Given the description of an element on the screen output the (x, y) to click on. 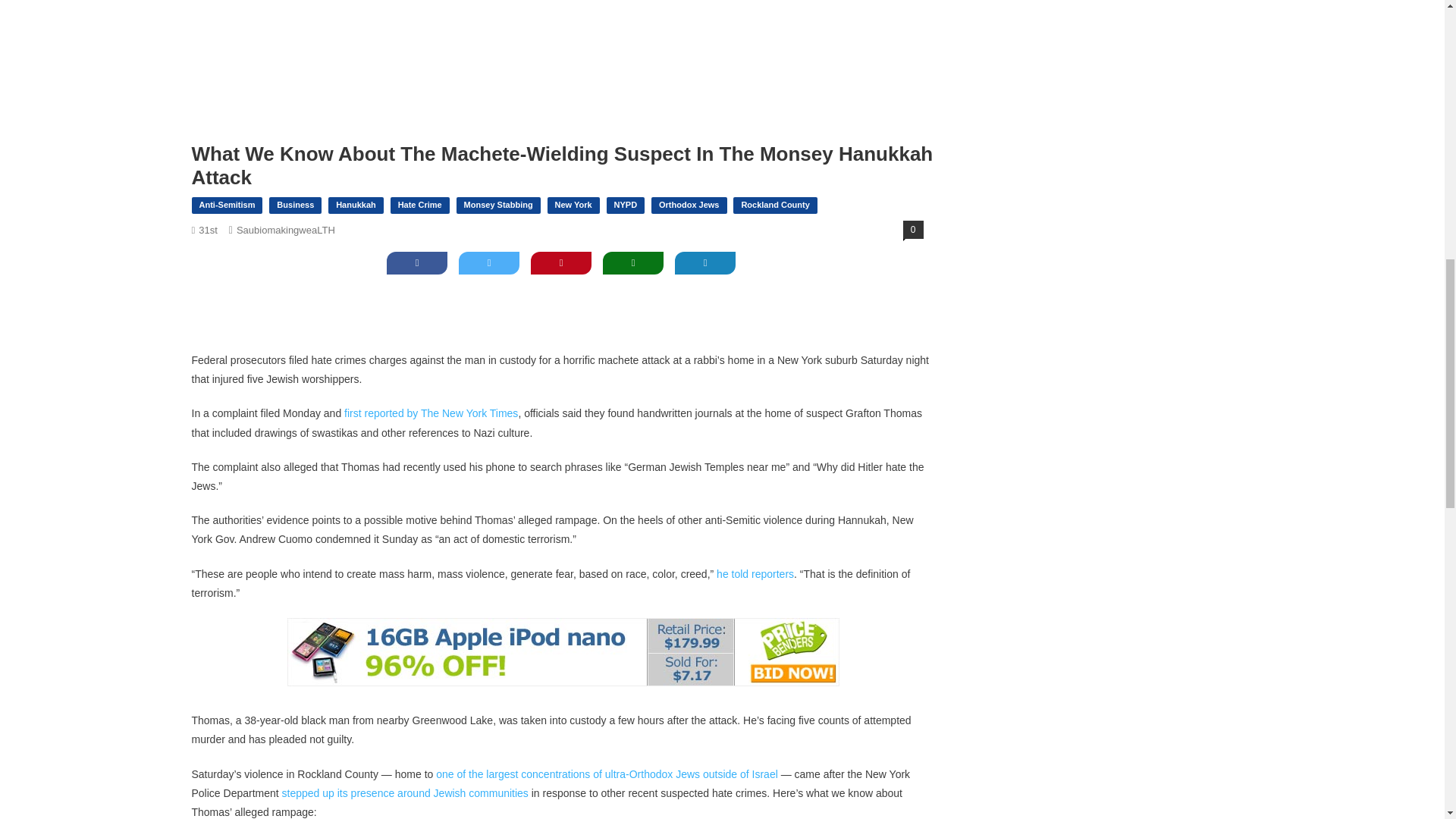
Orthodox Jews (688, 205)
Hanukkah (356, 205)
Monsey Stabbing (498, 205)
stepped up its presence around Jewish communities (405, 793)
first reported by The New York Times (430, 413)
Anti-Semitism (226, 205)
he told reporters (754, 573)
0 (912, 229)
NYPD (626, 205)
SaubiomakingweaLTH (284, 229)
Hate Crime (419, 205)
31st (207, 229)
Rockland County (774, 205)
Business (295, 205)
